Given the description of an element on the screen output the (x, y) to click on. 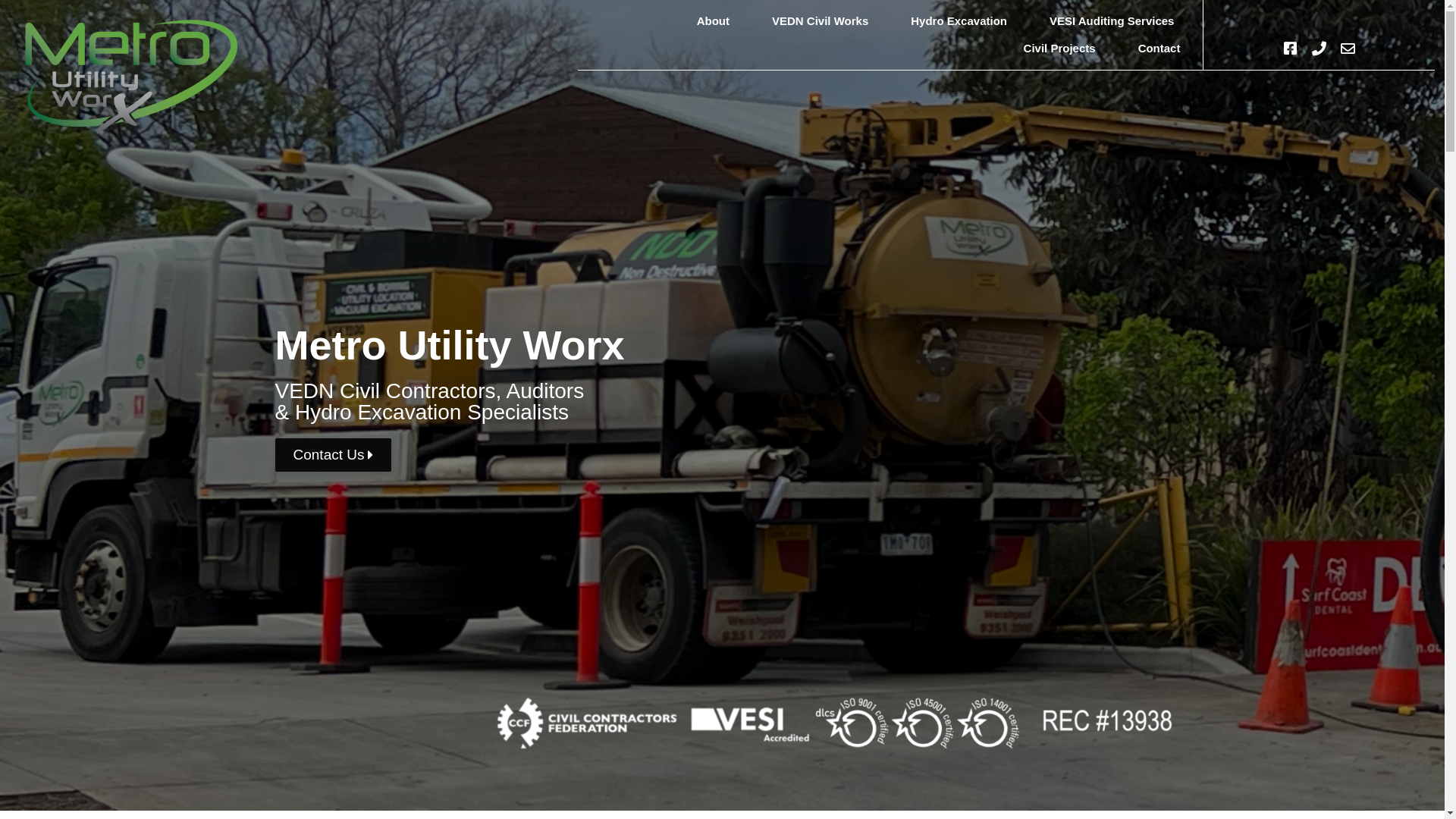
About Element type: text (712, 20)
Contact Us Element type: text (332, 454)
Hydro Excavation Element type: text (958, 20)
Civil Projects Element type: text (1059, 48)
Contact Element type: text (1159, 48)
VEDN Civil Works Element type: text (819, 20)
VESI Auditing Services Element type: text (1111, 20)
